Given the description of an element on the screen output the (x, y) to click on. 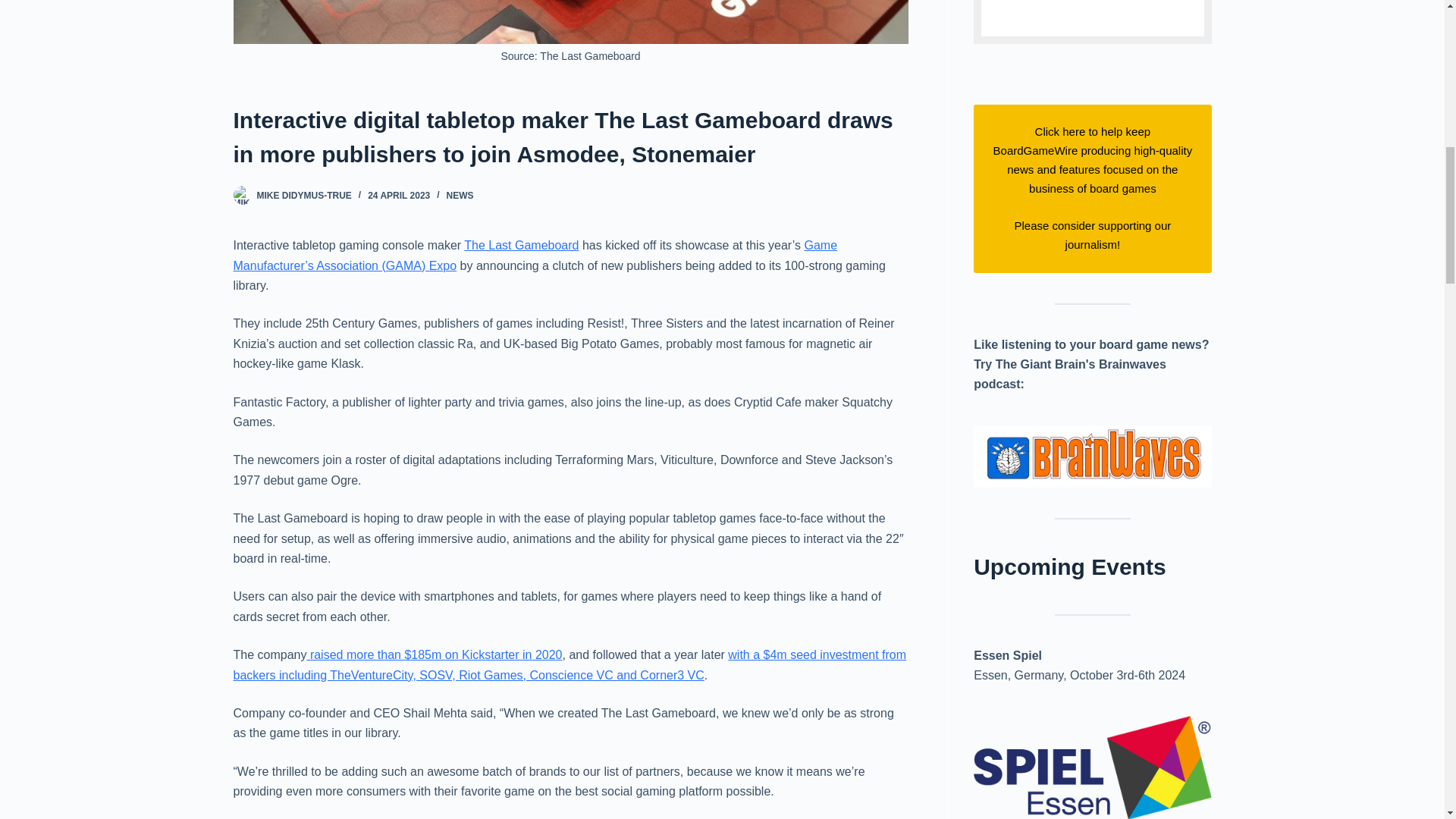
Posts by Mike Didymus-True (303, 195)
MIKE DIDYMUS-TRUE (303, 195)
The Last Gameboard (521, 245)
NEWS (460, 195)
